Given the description of an element on the screen output the (x, y) to click on. 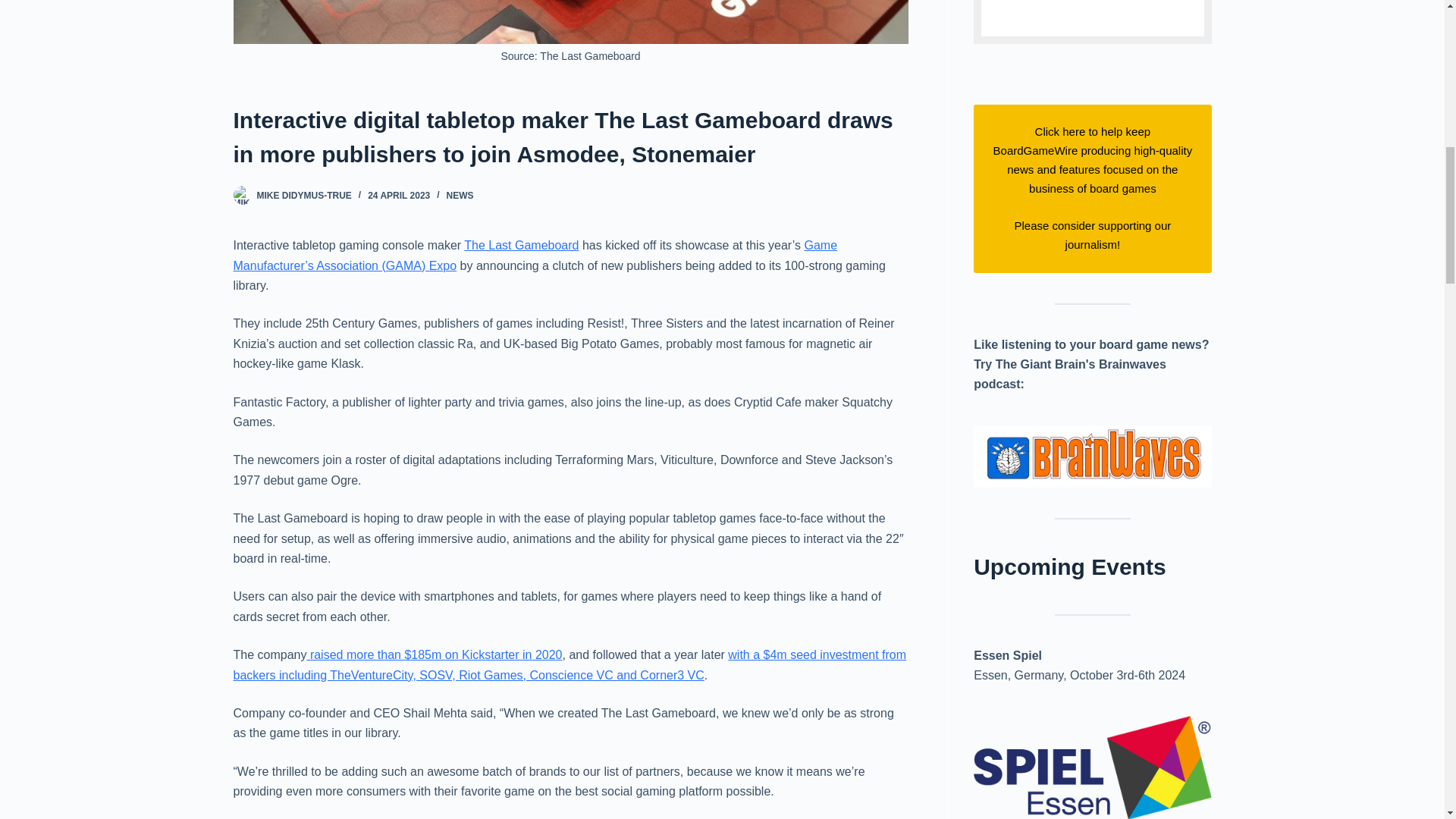
Posts by Mike Didymus-True (303, 195)
MIKE DIDYMUS-TRUE (303, 195)
The Last Gameboard (521, 245)
NEWS (460, 195)
